Given the description of an element on the screen output the (x, y) to click on. 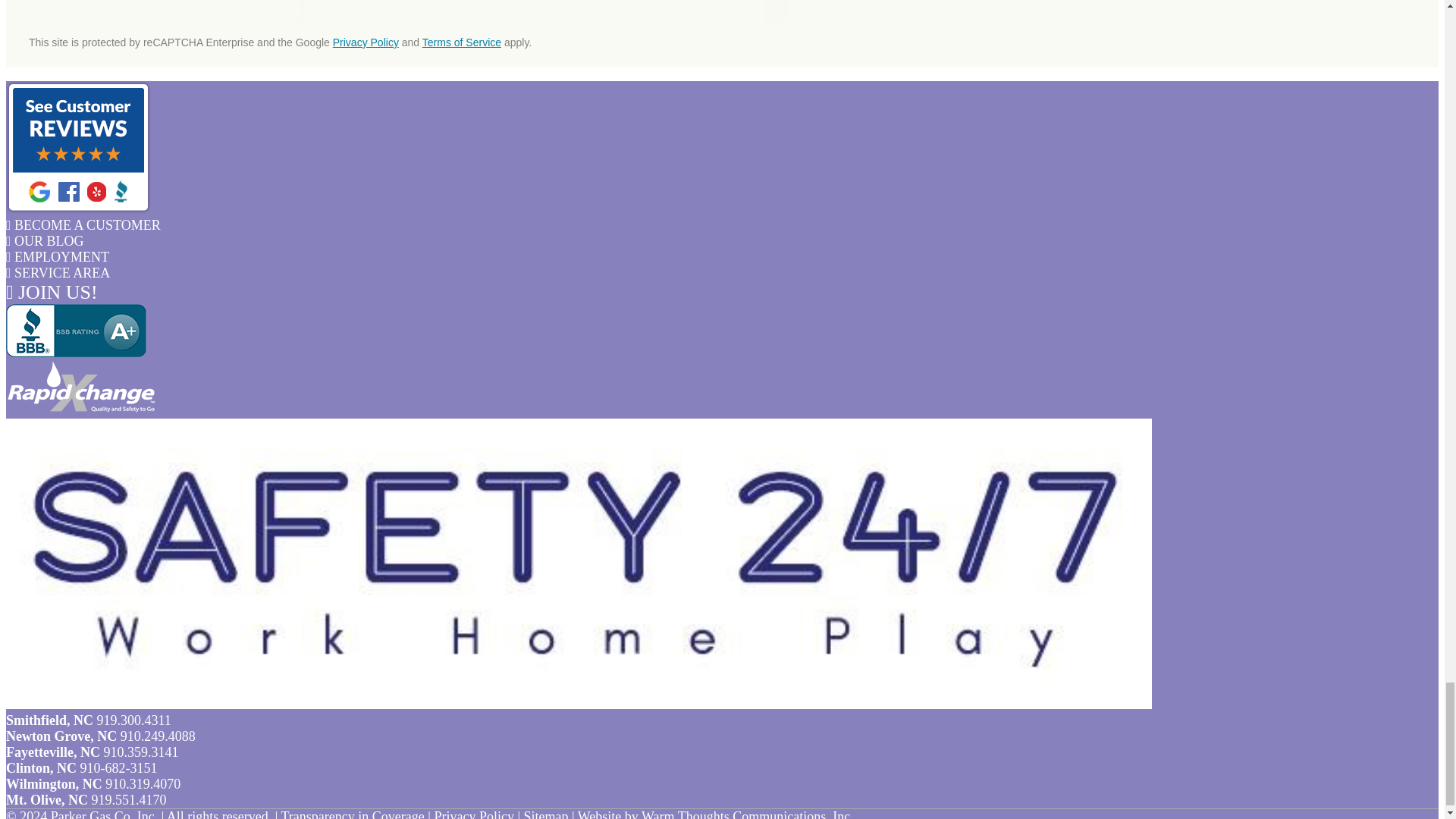
service area (57, 272)
employment (57, 256)
join us on facebook (51, 292)
our blog (44, 240)
become a customer (82, 224)
review buzz (78, 209)
